Given the description of an element on the screen output the (x, y) to click on. 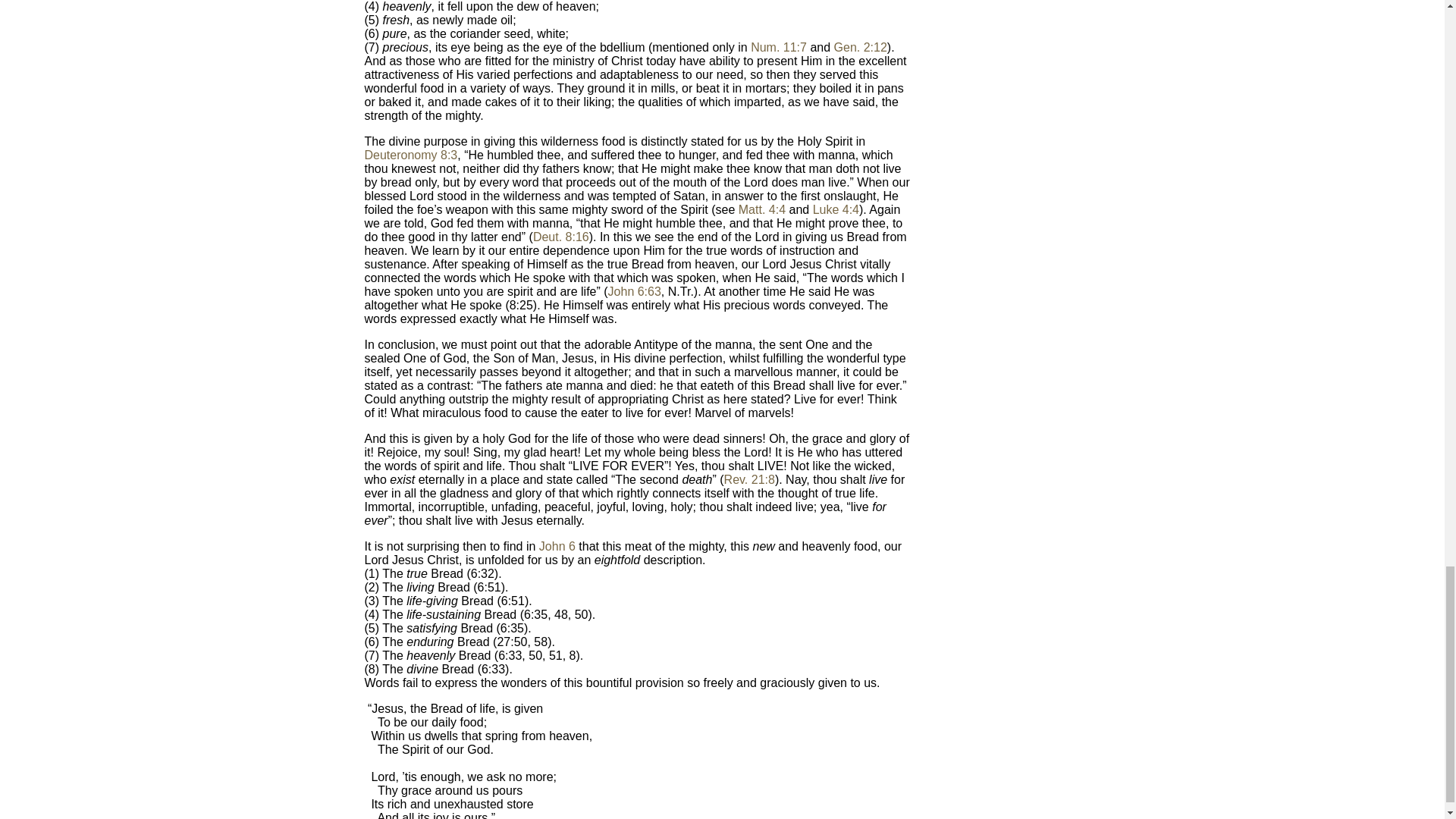
John 6 (556, 545)
Deuteronomy 8:3 (410, 154)
Deut. 8:16 (560, 236)
John 6:63 (634, 291)
